Given the description of an element on the screen output the (x, y) to click on. 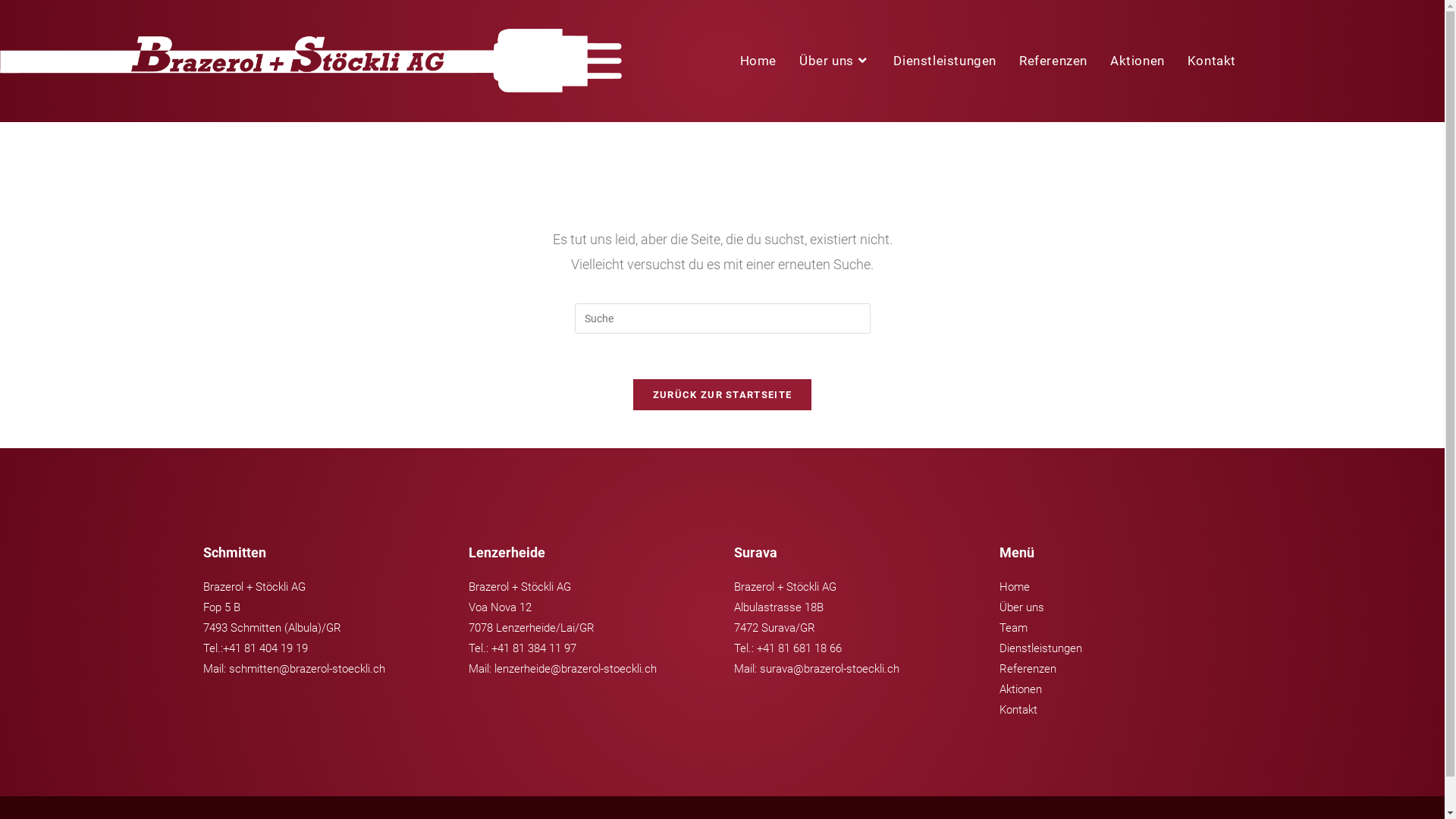
Dienstleistungen Element type: text (1040, 648)
Referenzen Element type: text (1052, 60)
Team Element type: text (1013, 627)
Aktionen Element type: text (1020, 689)
Kontakt Element type: text (1211, 60)
Kontakt Element type: text (1018, 709)
lenzerheide@brazerol-stoeckli.ch Element type: text (575, 668)
Referenzen Element type: text (1027, 668)
Dienstleistungen Element type: text (944, 60)
Home Element type: text (1014, 586)
Aktionen Element type: text (1137, 60)
surava@brazerol-stoeckli.ch Element type: text (829, 668)
schmitten@brazerol-stoeckli.ch Element type: text (307, 668)
Home Element type: text (757, 60)
